Given the description of an element on the screen output the (x, y) to click on. 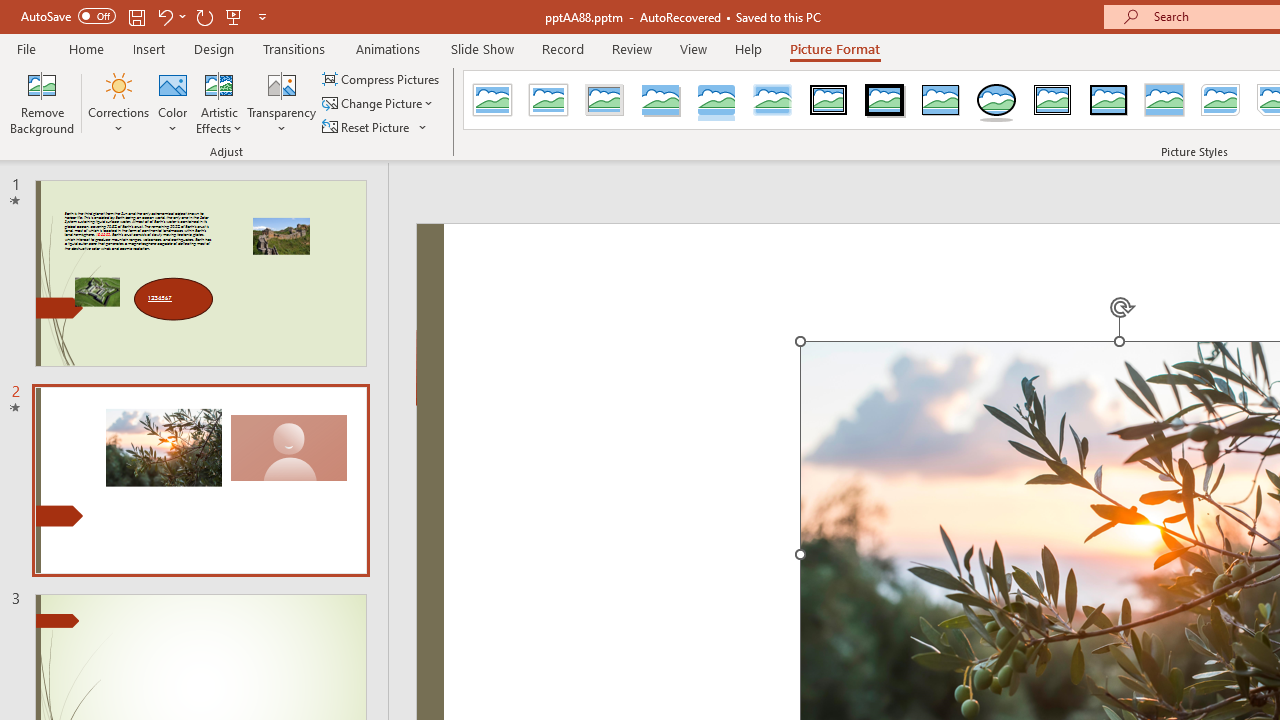
Compress Pictures... (381, 78)
Change Picture (379, 103)
Simple Frame, Black (940, 100)
Double Frame, Black (829, 100)
Reset Picture (375, 126)
Picture Format (834, 48)
Compound Frame, Black (1053, 100)
Simple Frame, White (492, 100)
Center Shadow Rectangle (1164, 100)
